Given the description of an element on the screen output the (x, y) to click on. 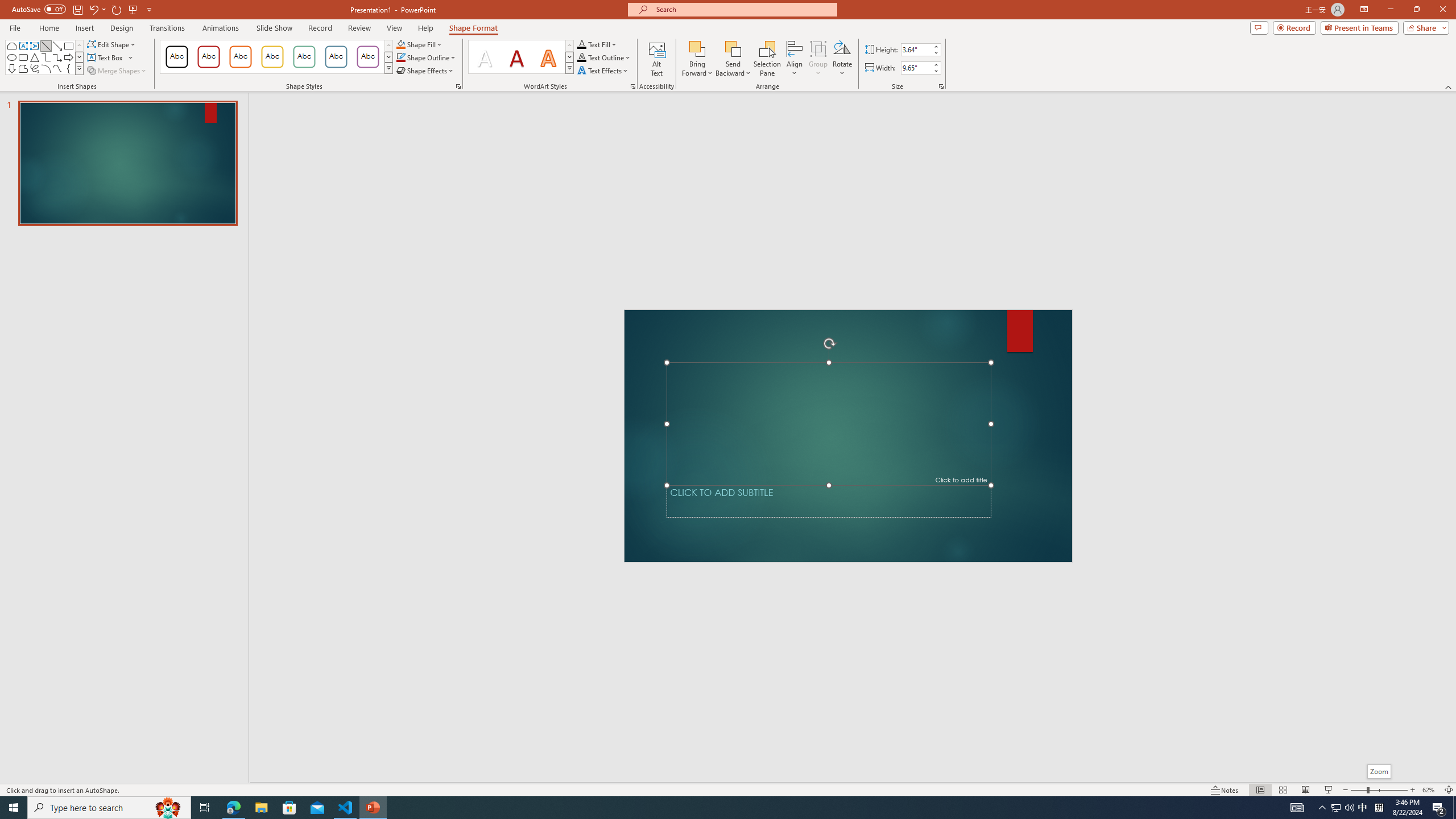
Curve (57, 68)
Line Arrow (57, 45)
Rectangle: Top Corners Snipped (11, 45)
Colored Outline - Blue-Gray, Accent 5 (336, 56)
Row up (568, 45)
